Given the description of an element on the screen output the (x, y) to click on. 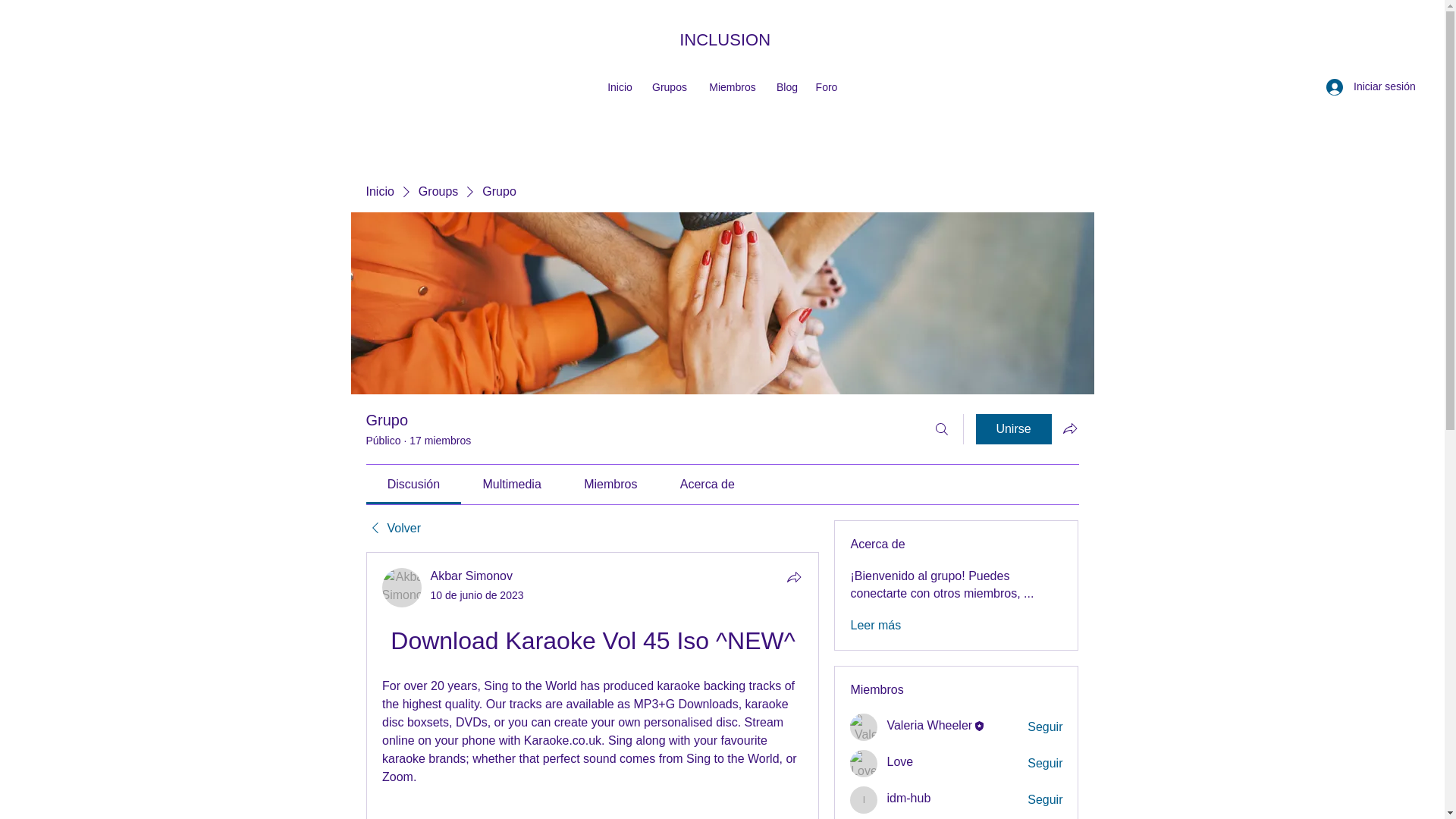
10 de junio de 2023 (477, 594)
Groups (438, 191)
Love (863, 763)
Seguir (1044, 799)
Miembros (732, 87)
Akbar Simonov (471, 575)
Seguir (1044, 763)
Inicio (620, 87)
Valeria Wheeler (929, 725)
Foro (825, 87)
Blog (786, 87)
Seguir (1044, 727)
Love (899, 761)
Akbar Simonov (401, 587)
Valeria Wheeler (863, 727)
